Given the description of an element on the screen output the (x, y) to click on. 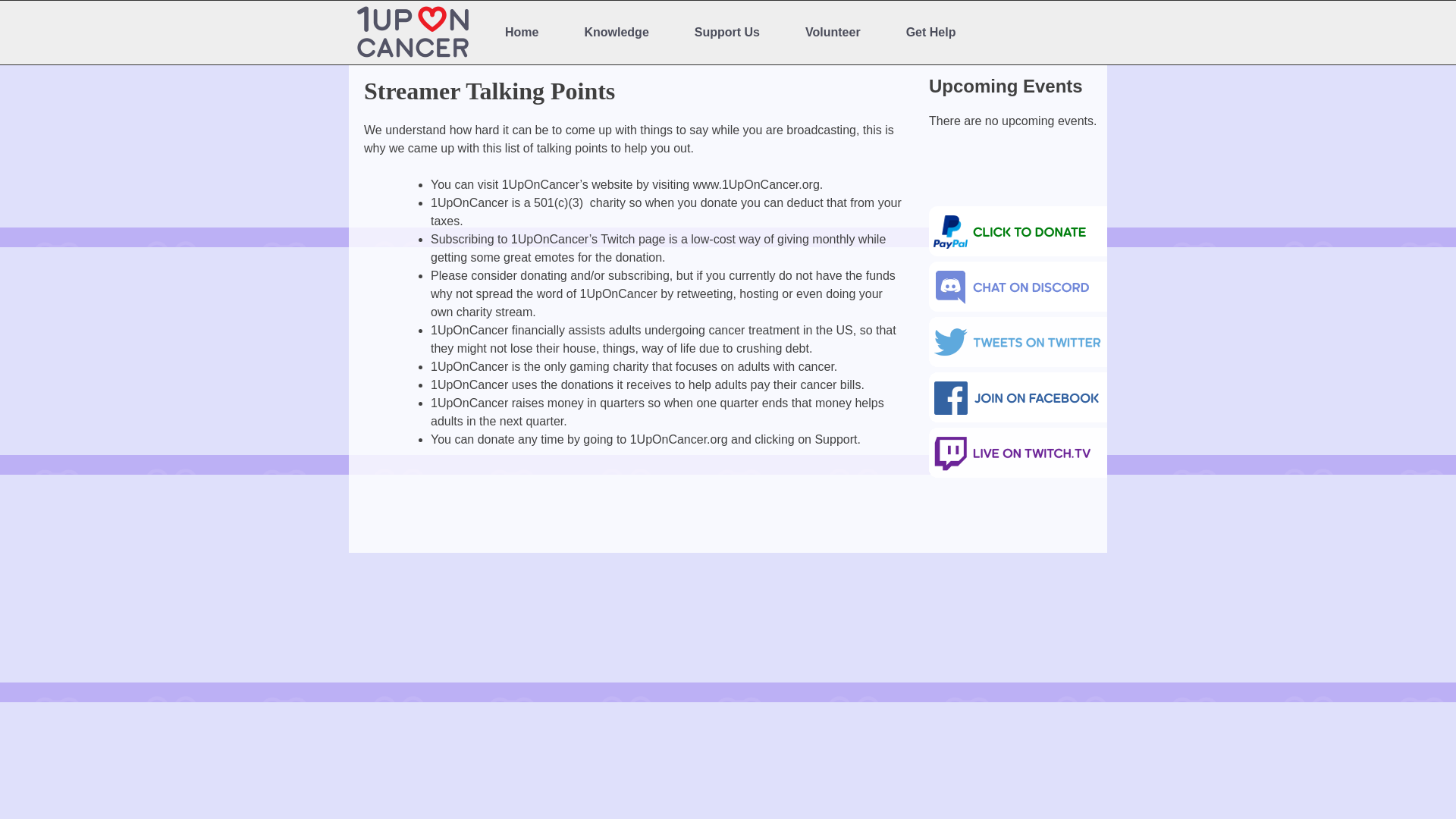
Volunteer (833, 32)
Knowledge (615, 32)
Support Us (727, 32)
Home (520, 32)
Get Help (930, 32)
